Given the description of an element on the screen output the (x, y) to click on. 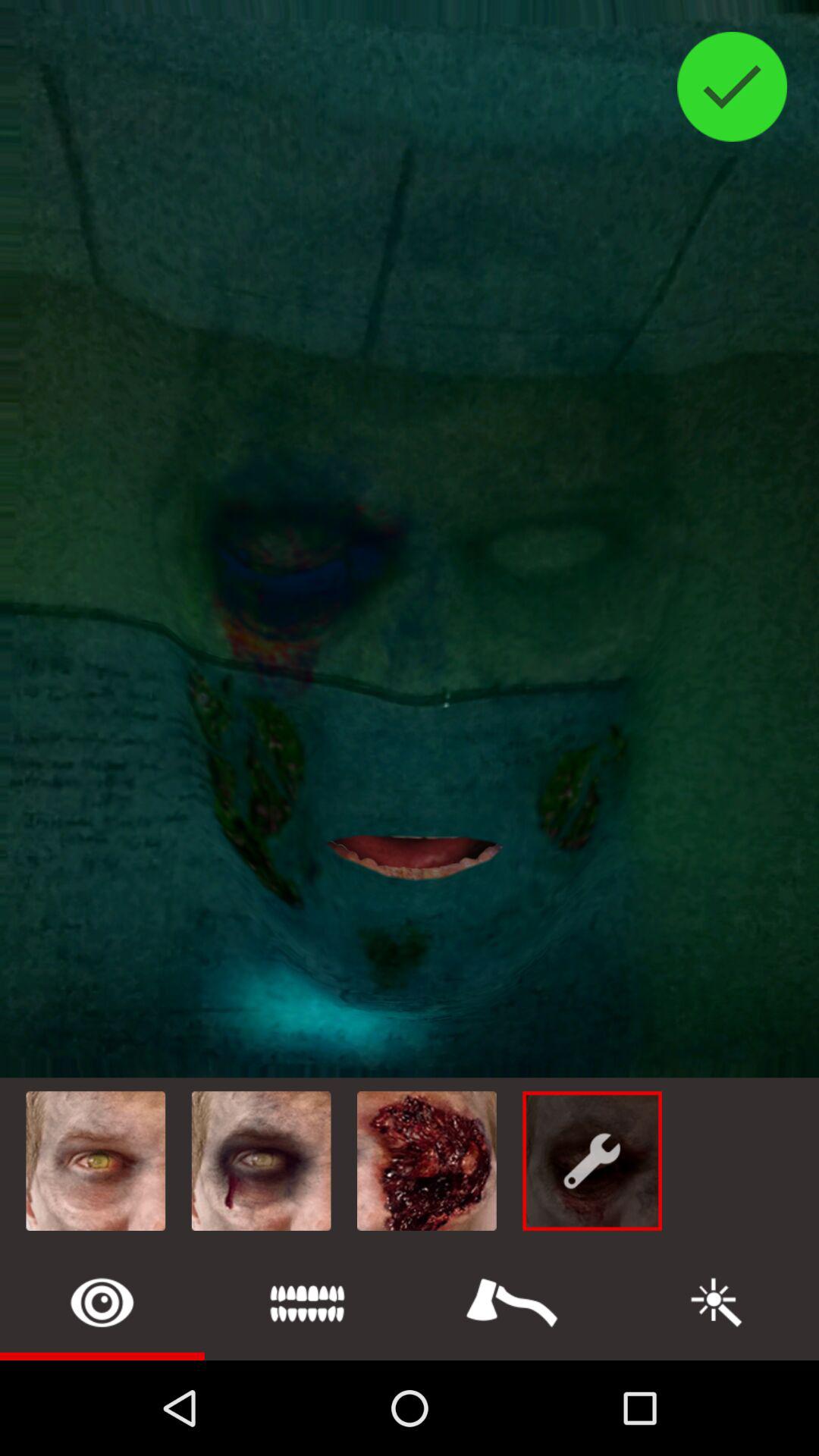
toggle teeth style (306, 1302)
